Given the description of an element on the screen output the (x, y) to click on. 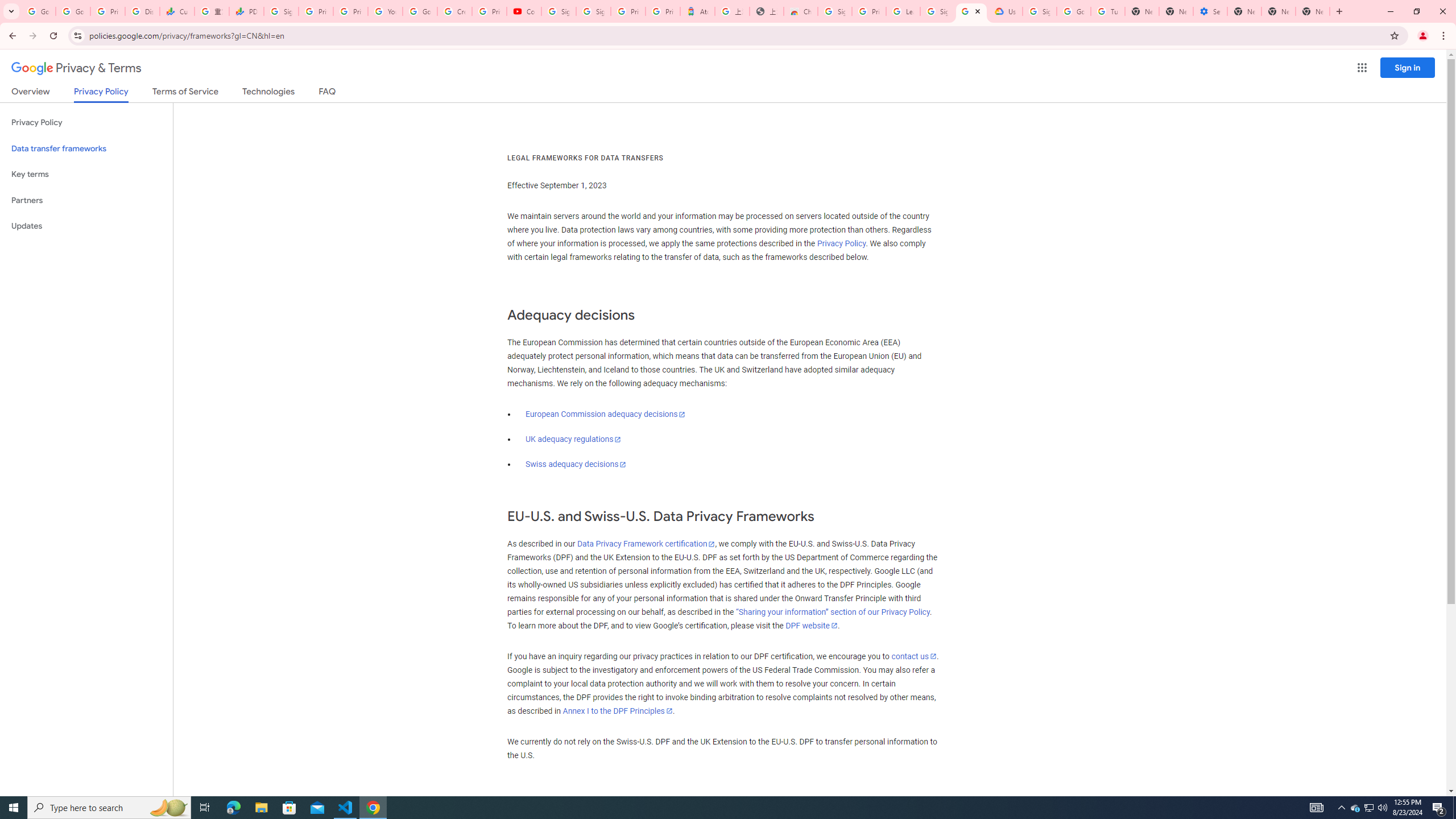
Google Account Help (419, 11)
Turn cookies on or off - Computer - Google Account Help (1107, 11)
UK adequacy regulations (573, 439)
Data Privacy Framework certification (645, 543)
Sign in - Google Accounts (834, 11)
Google Account Help (1073, 11)
